Given the description of an element on the screen output the (x, y) to click on. 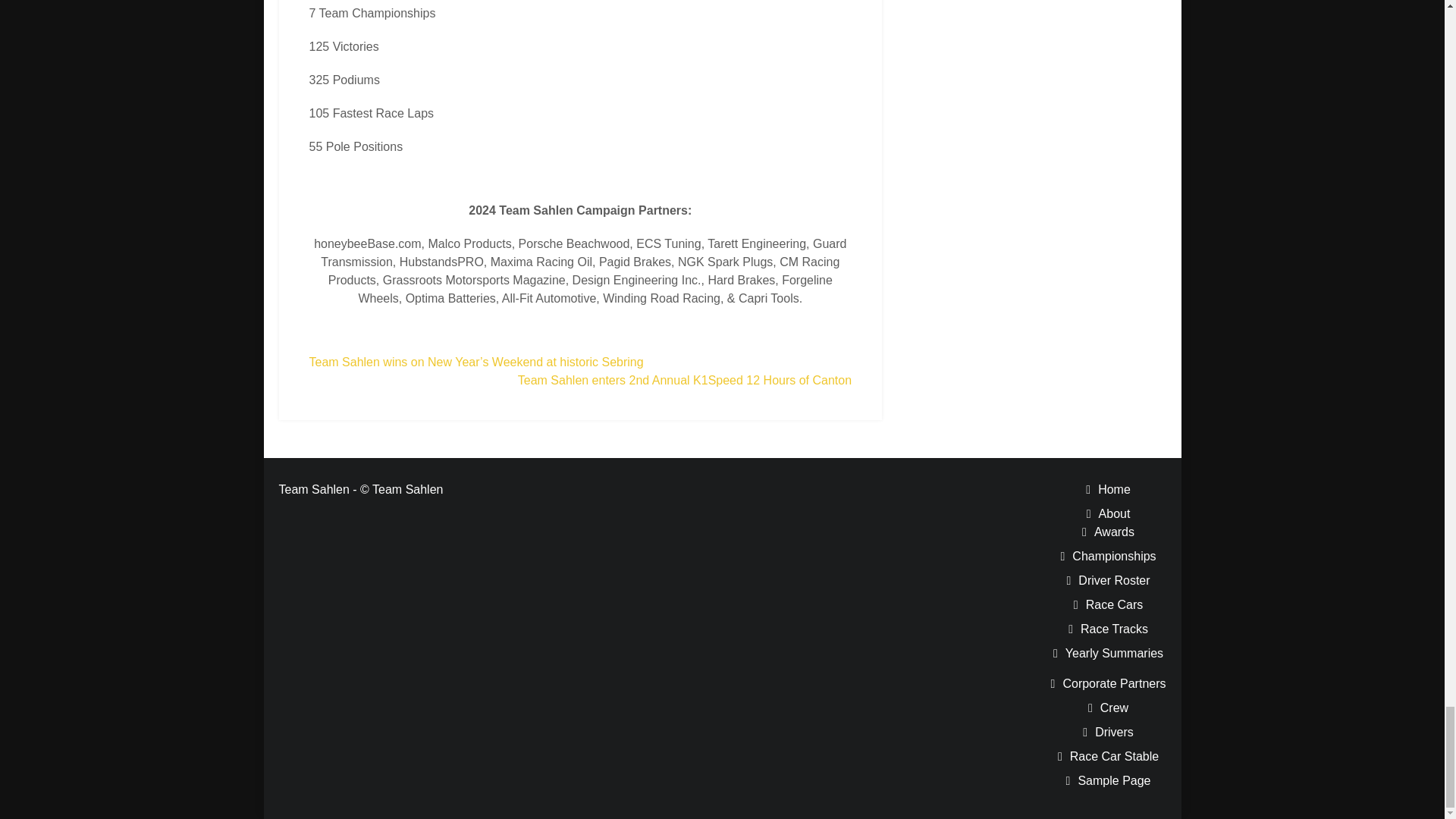
Drivers (1114, 731)
Yearly Summaries (1114, 653)
Race Cars (1114, 604)
Team Sahlen enters 2nd Annual K1Speed 12 Hours of Canton (684, 379)
Crew (1114, 707)
Corporate Partners (1114, 683)
Home (1114, 489)
Race Car Stable (1114, 756)
Championships (1113, 555)
Driver Roster (1114, 580)
